Given the description of an element on the screen output the (x, y) to click on. 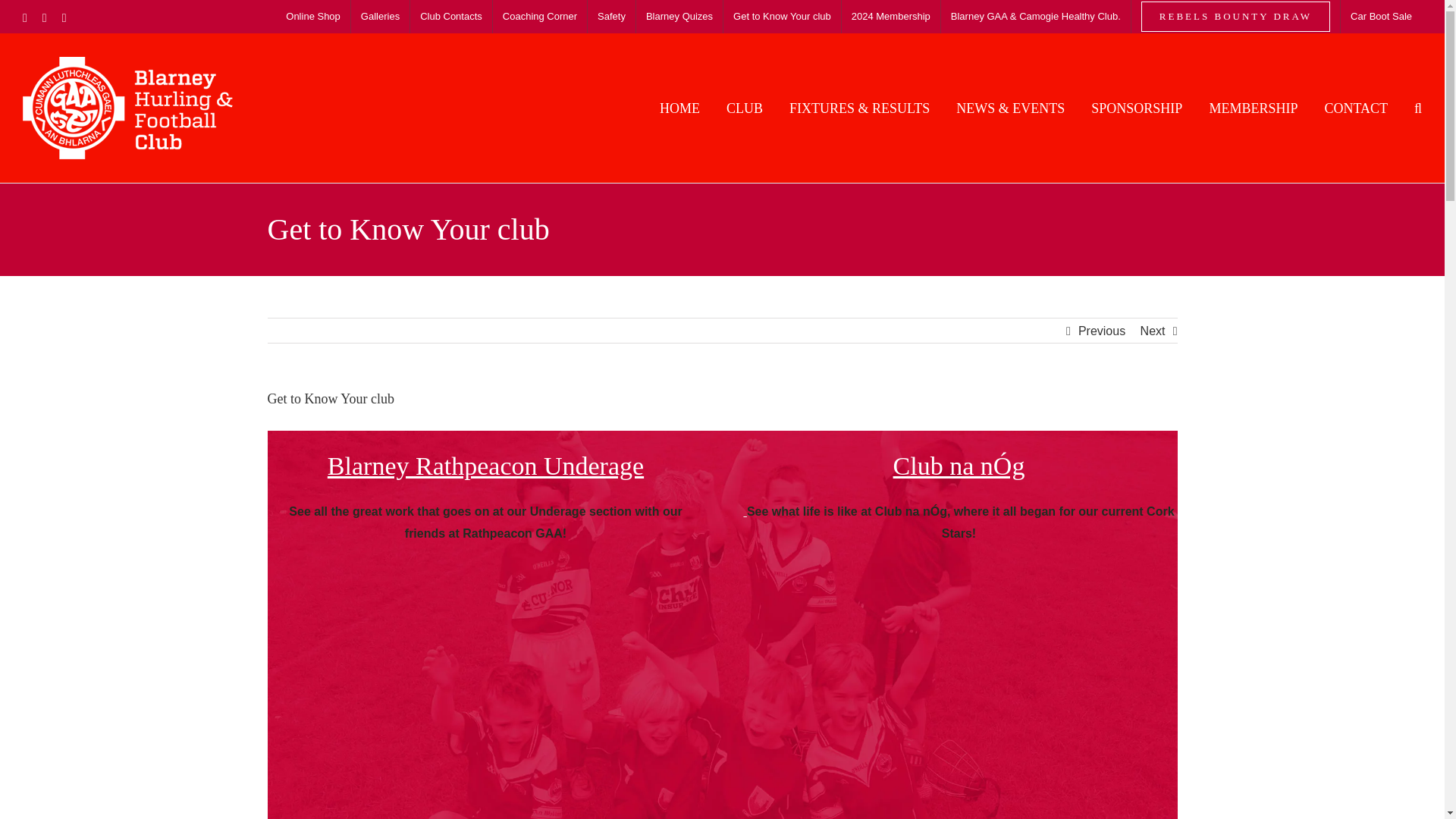
Online Shop (313, 16)
Car Boot Sale (1381, 16)
Galleries (379, 16)
Blarney Quizes (679, 16)
Safety (611, 16)
Club Contacts (451, 16)
REBELS BOUNTY DRAW (1235, 16)
Coaching Corner (539, 16)
Get to Know Your club (782, 16)
2024 Membership (890, 16)
